Given the description of an element on the screen output the (x, y) to click on. 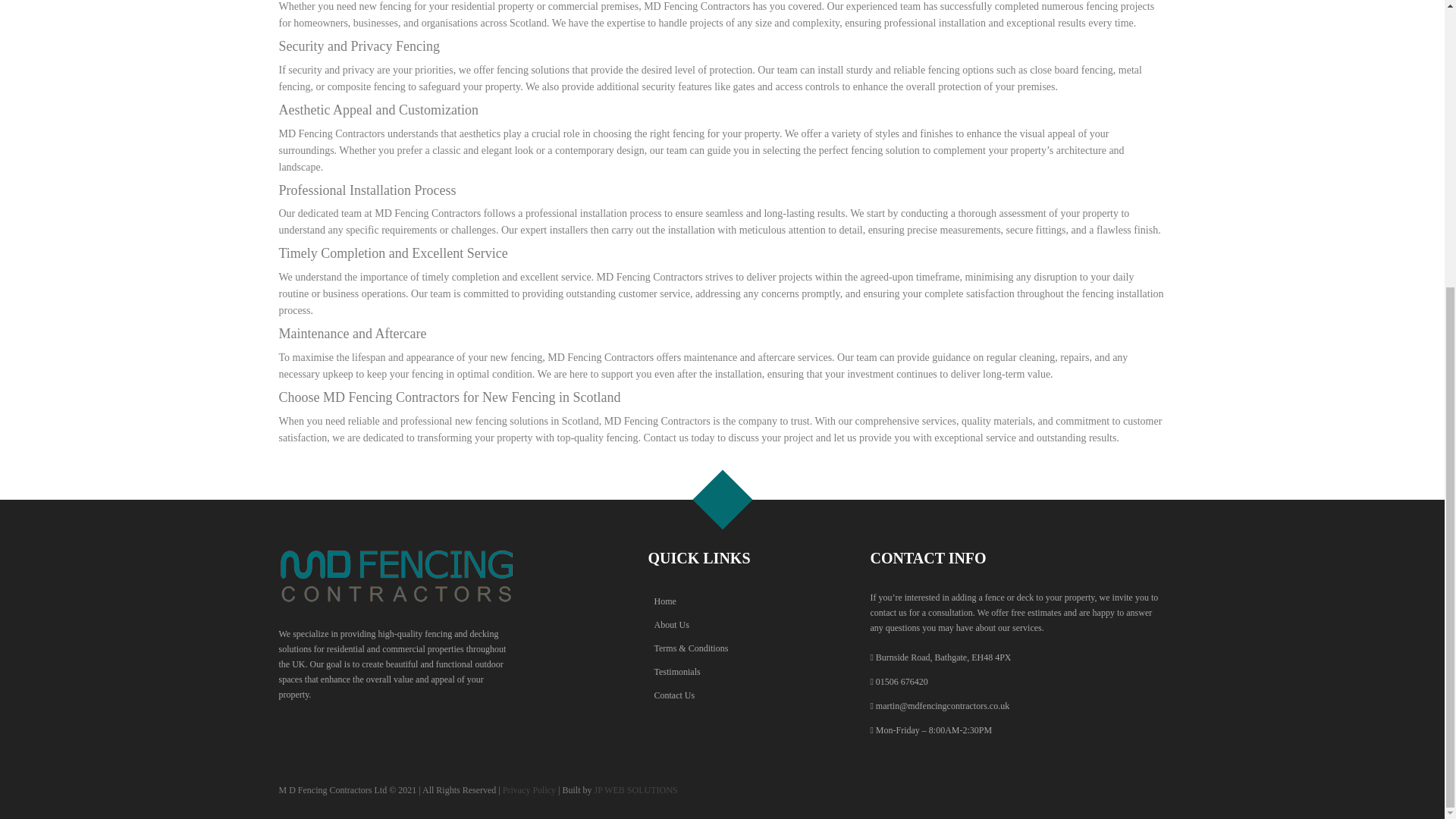
Testimonials (721, 671)
Home (721, 601)
01506 676420 (902, 681)
Contact Us (721, 695)
About Us (721, 625)
JP WEB SOLUTIONS (635, 789)
Click to mail (942, 706)
Privacy Policy (529, 789)
Click to call (902, 681)
